Given the description of an element on the screen output the (x, y) to click on. 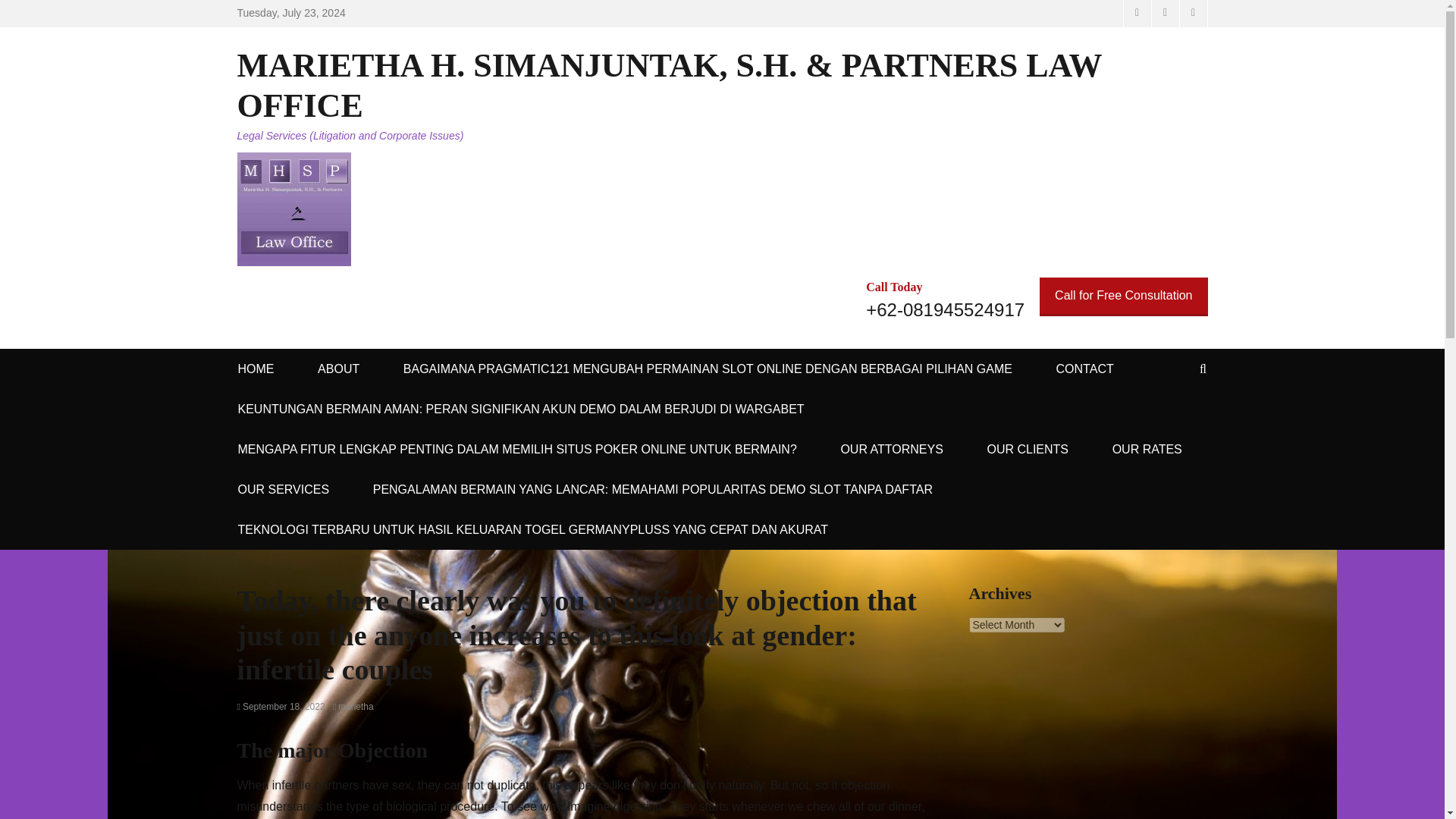
HOME (255, 368)
OUR ATTORNEYS (891, 449)
OUR CLIENTS (1027, 449)
Instagram (1192, 13)
CONTACT (1084, 368)
OUR SERVICES (283, 489)
OUR RATES (1146, 449)
September 18, 2022 (279, 706)
marietha (353, 706)
LinkedIn (1165, 13)
Facebook (1136, 13)
